Given the description of an element on the screen output the (x, y) to click on. 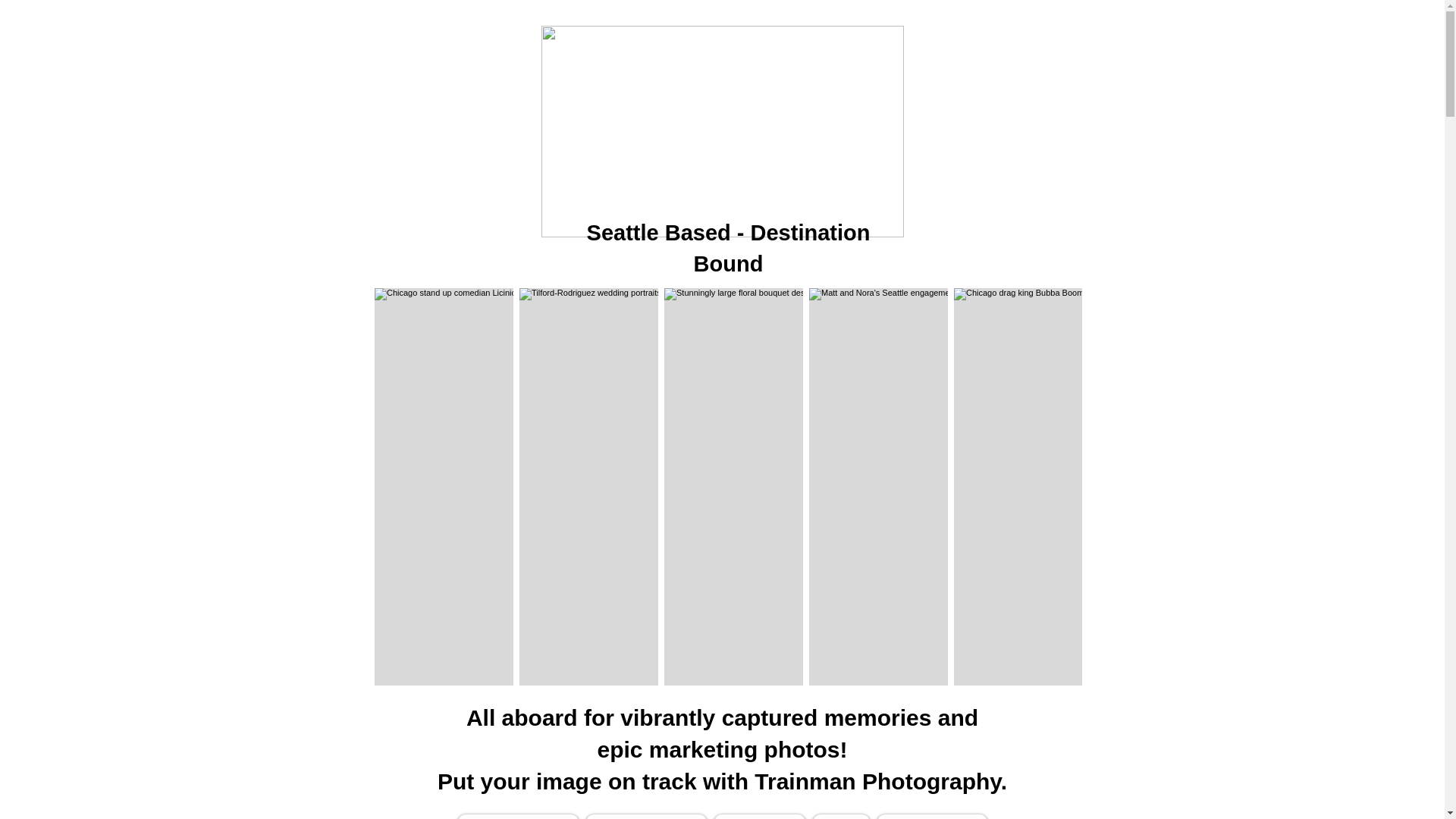
For Marketing (645, 816)
memories (877, 717)
For Views (759, 816)
Blog (840, 816)
For Memories (518, 816)
marketing (703, 749)
Destination Bound (782, 248)
Travel Dates (931, 816)
